Given the description of an element on the screen output the (x, y) to click on. 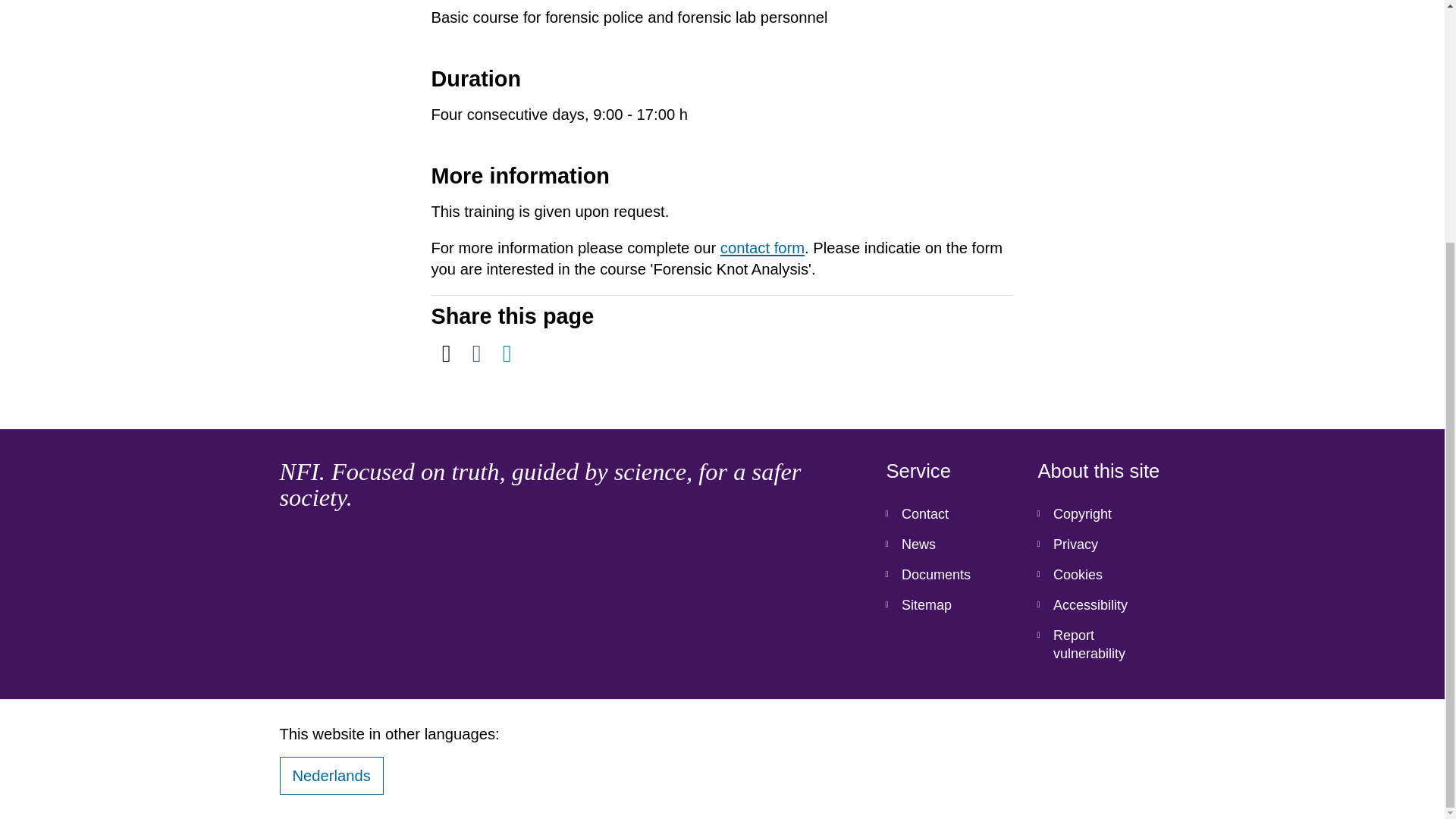
News (949, 544)
Accessibility (1100, 604)
Share this page on your LinkedIn account (506, 353)
Report vulnerability (1100, 644)
Nederlands (330, 775)
Cookies (1100, 574)
Documents (949, 574)
Contact (949, 513)
Share this page on your Facebook account (476, 353)
Sitemap (949, 604)
